Given the description of an element on the screen output the (x, y) to click on. 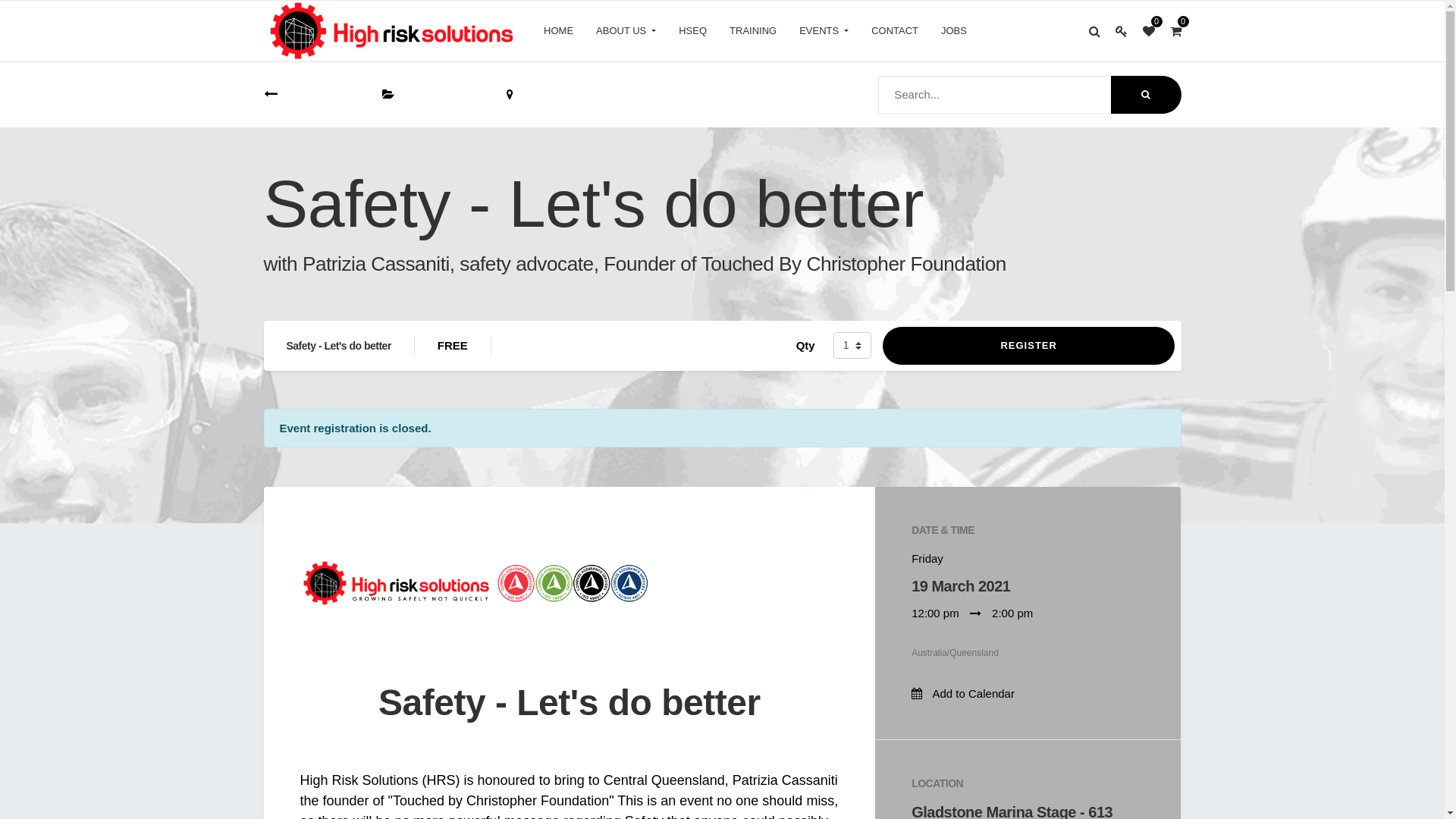
0 Element type: text (1148, 30)
ABOUT US Element type: text (625, 30)
CONTACT Element type: text (894, 30)
High Risk Solutions Element type: hover (391, 30)
Australia Element type: text (539, 94)
EVENTS Element type: text (823, 30)
HOME Element type: text (558, 30)
Add to Calendar Element type: text (973, 693)
HSEQ Element type: text (692, 30)
Search Element type: hover (1145, 94)
JOBS Element type: text (953, 30)
TRAINING Element type: text (752, 30)
All Events Element type: text (307, 93)
0 Element type: text (1174, 30)
Physical Event Element type: text (432, 94)
REGISTER Element type: text (1028, 345)
